Given the description of an element on the screen output the (x, y) to click on. 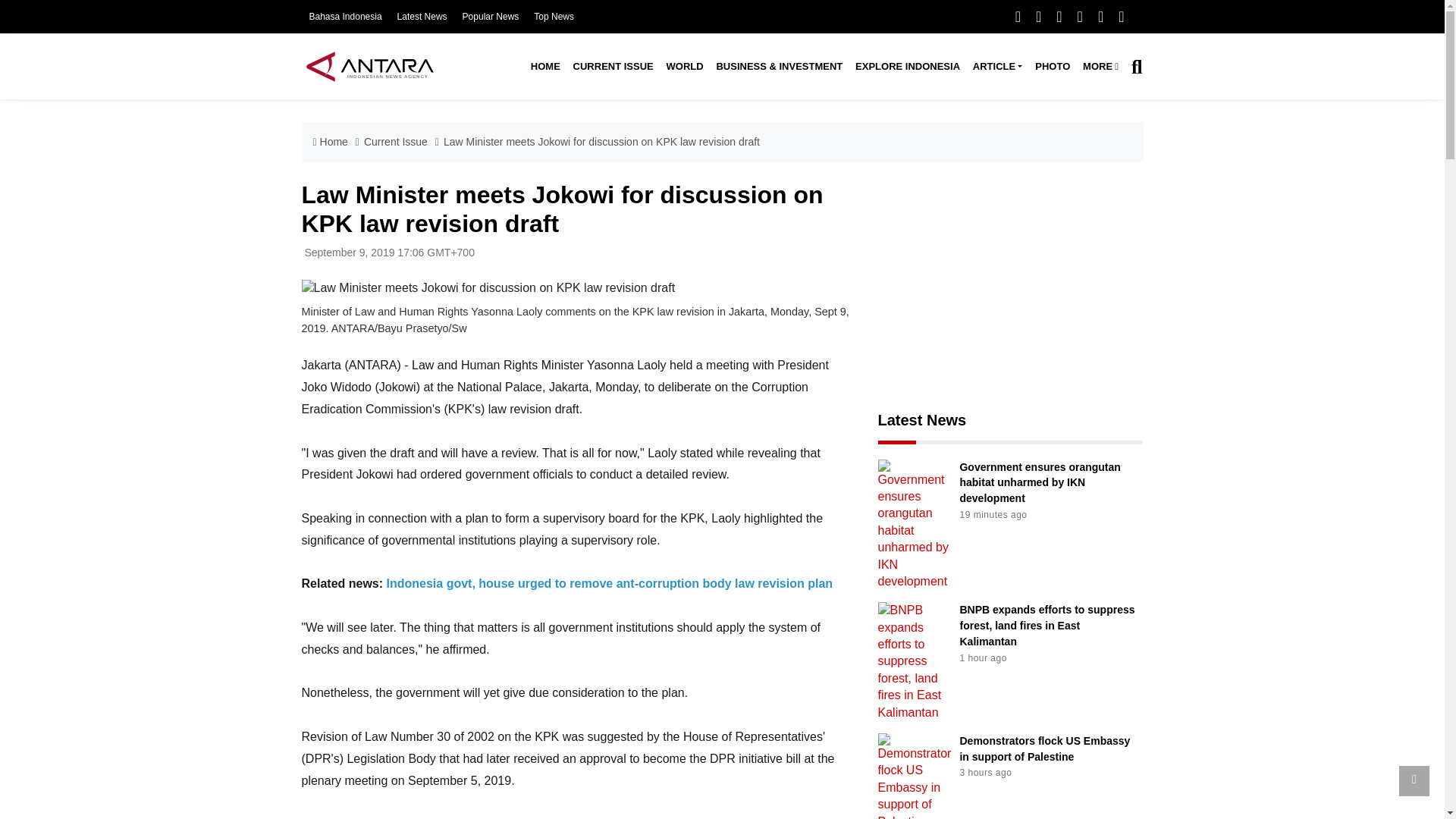
CURRENT ISSUE (612, 66)
Article (996, 66)
Current Issue (612, 66)
Bahasa Indonesia (344, 16)
Popular News (491, 16)
Bahasa Indonesia (344, 16)
ANTARA News (369, 66)
Top News (553, 16)
Explore Indonesia (907, 66)
